Given the description of an element on the screen output the (x, y) to click on. 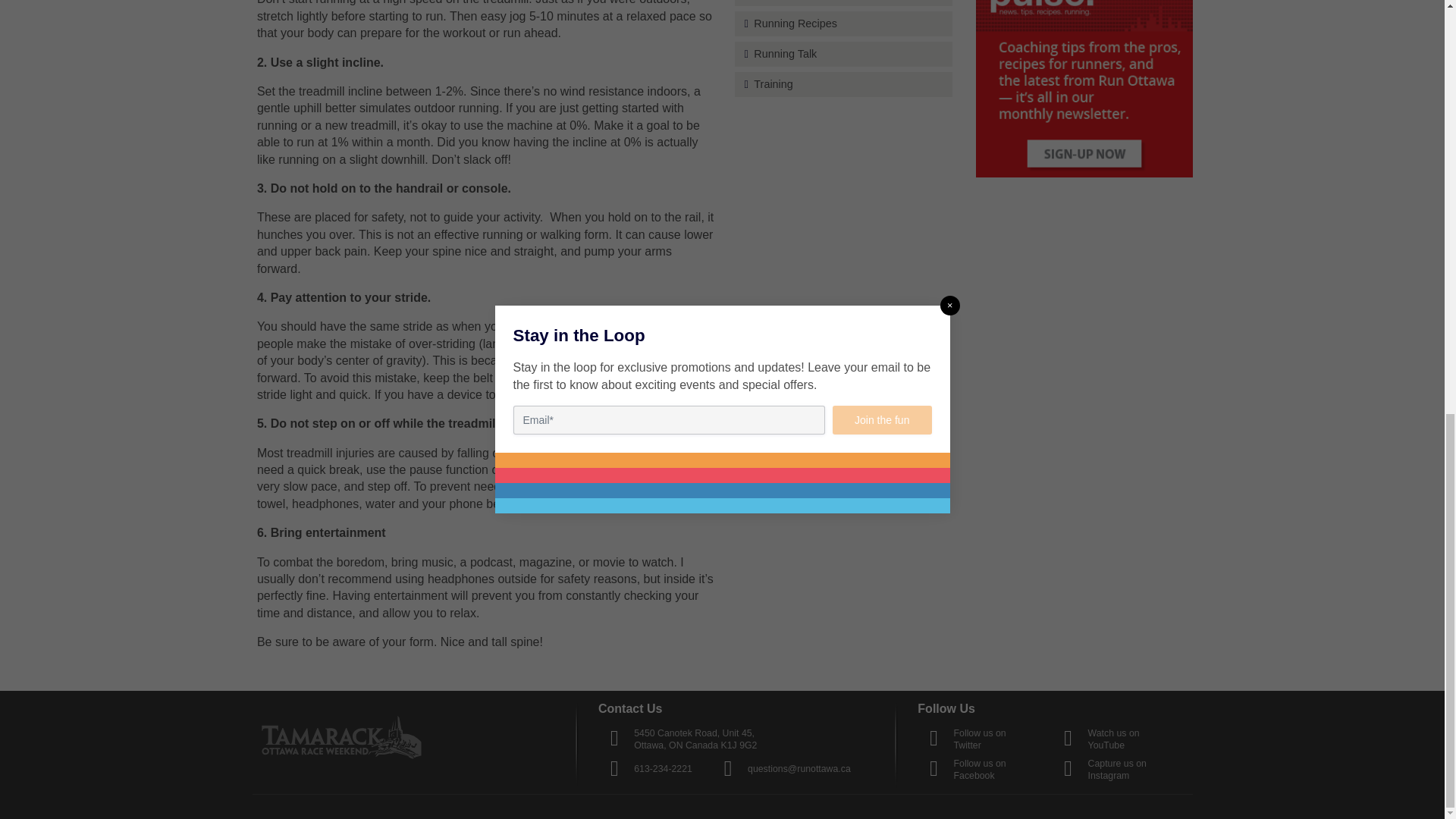
Sign-up for the Pulse (1083, 88)
